Given the description of an element on the screen output the (x, y) to click on. 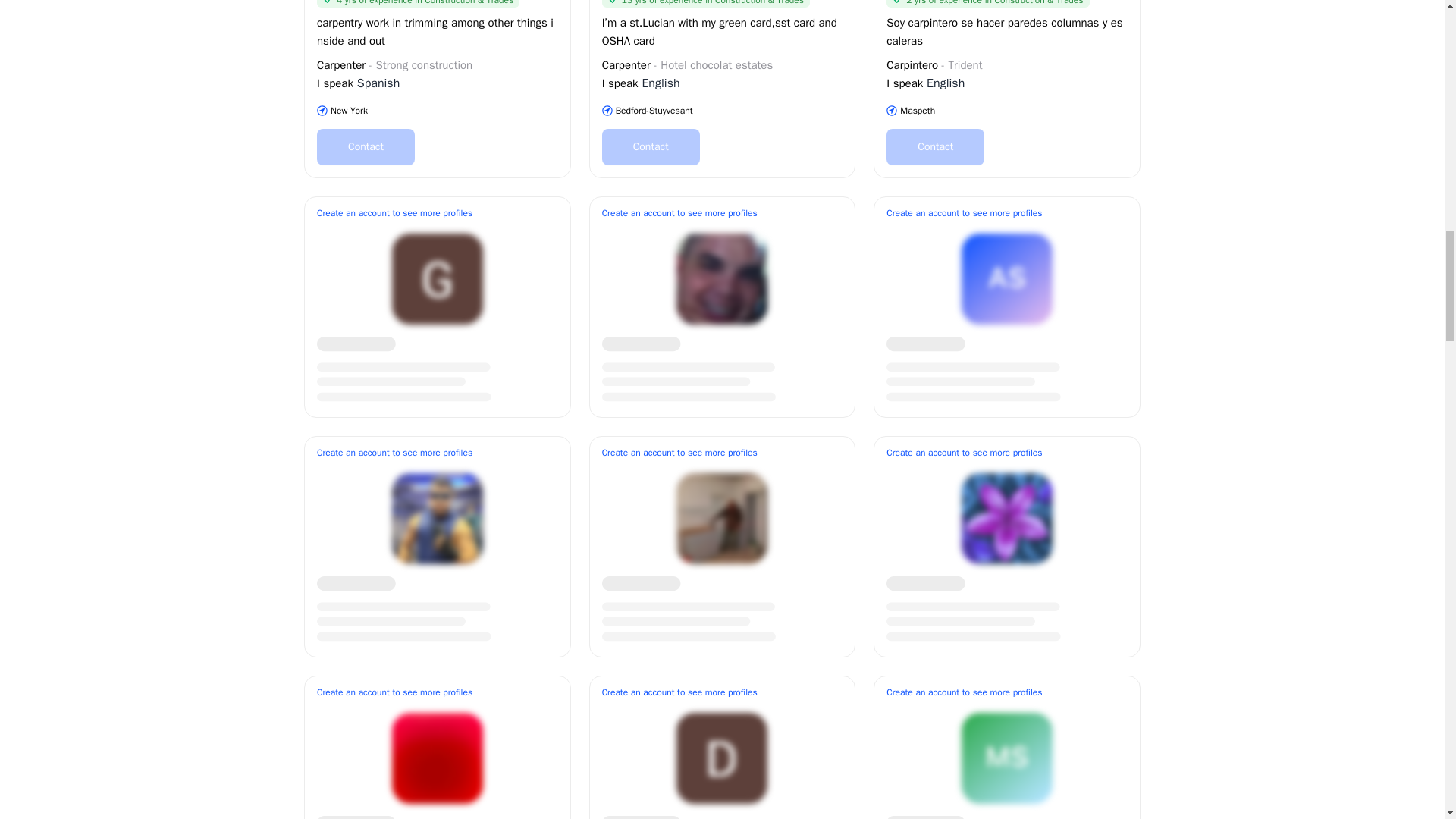
Contact (935, 146)
Contact (365, 146)
Contact (651, 146)
